Given the description of an element on the screen output the (x, y) to click on. 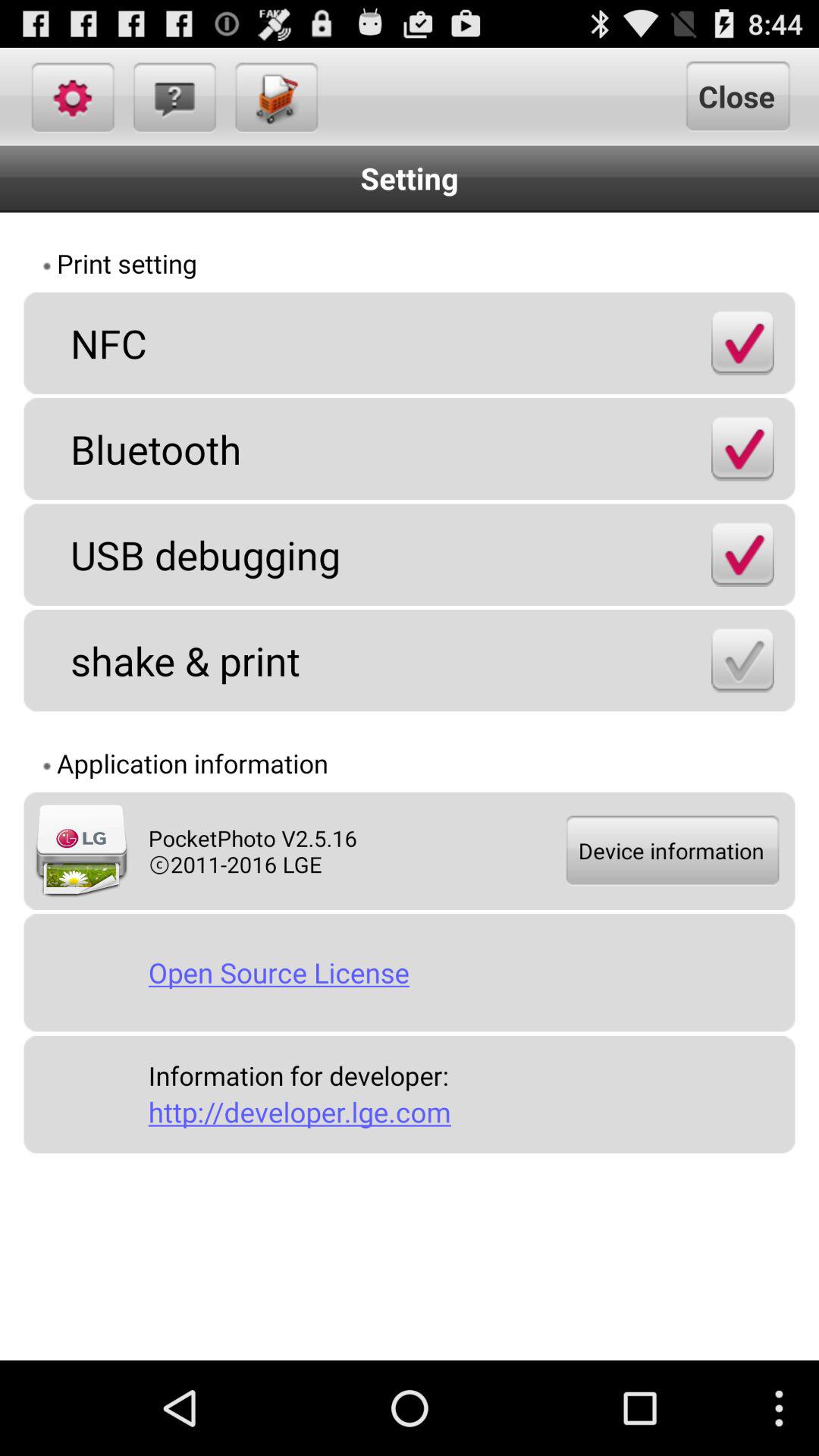
choose app to the right of pocketphoto v2 5 item (671, 850)
